Given the description of an element on the screen output the (x, y) to click on. 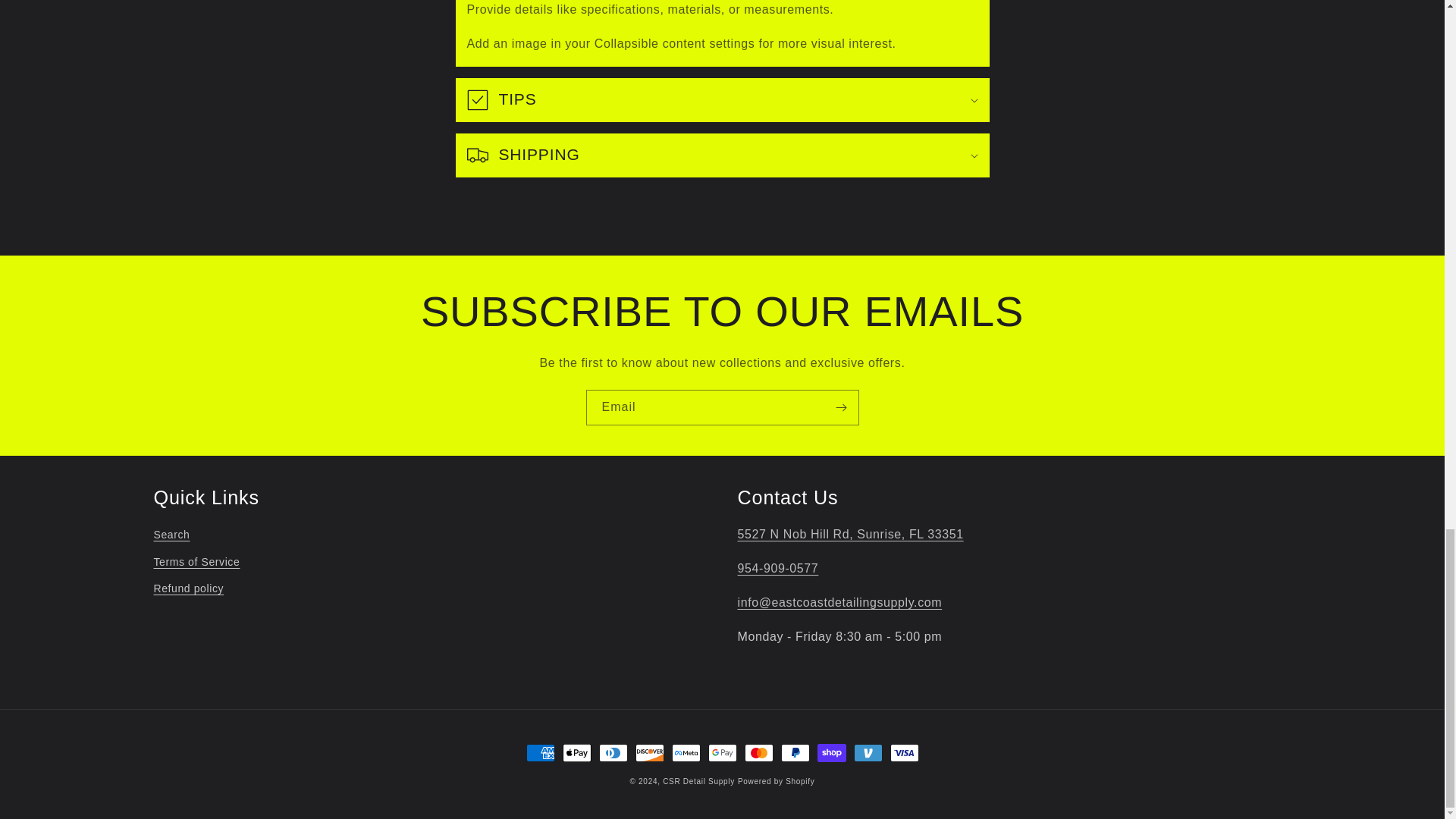
5527 N Nob Hill Rd, Sunrise, FL 33351 (849, 533)
tel:954-909-0577 (777, 567)
Search (170, 536)
Terms of Service (196, 561)
Refund policy (188, 588)
954-909-0577 (777, 567)
